Given the description of an element on the screen output the (x, y) to click on. 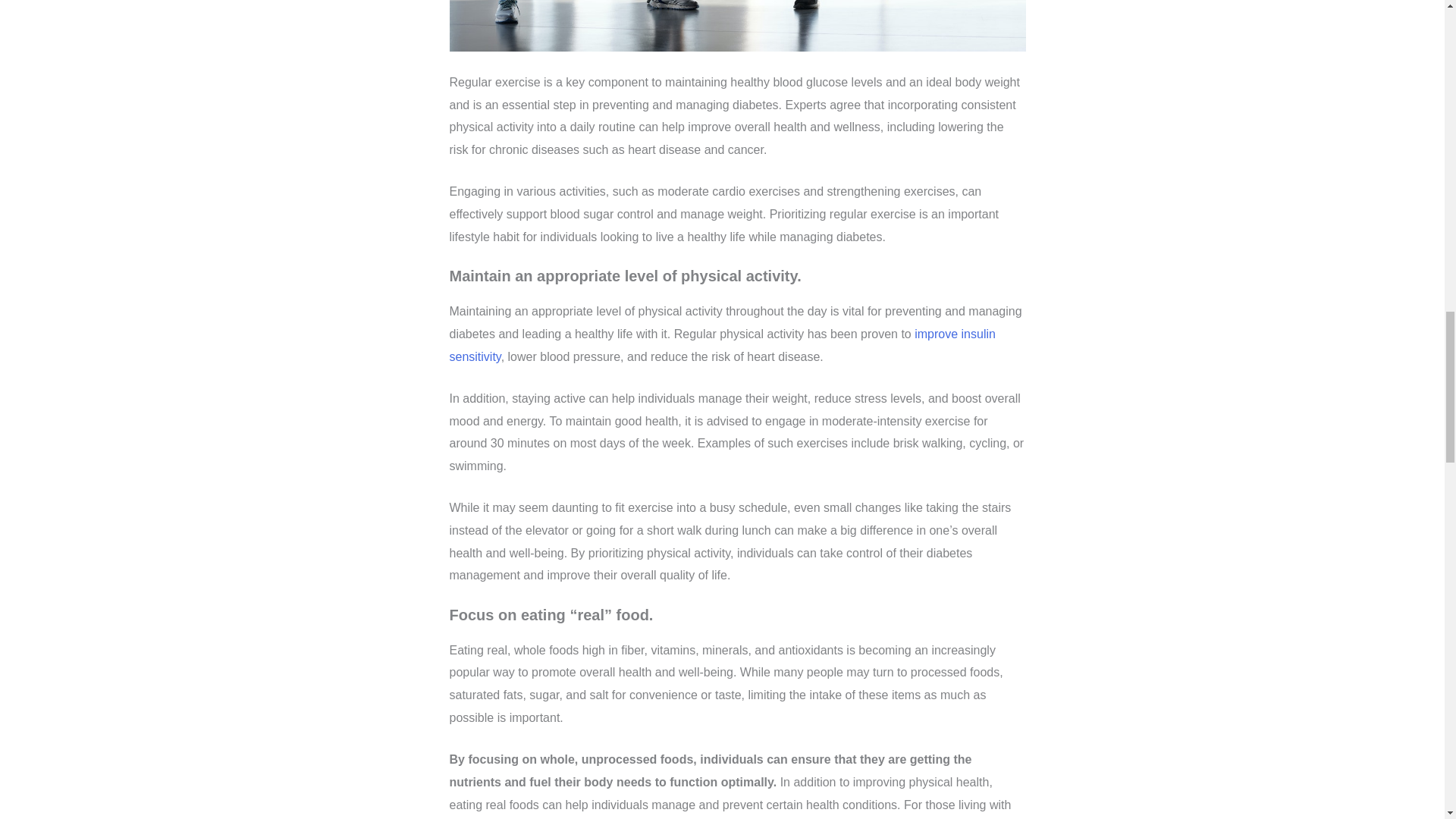
improve insulin sensitivity (721, 345)
